Given the description of an element on the screen output the (x, y) to click on. 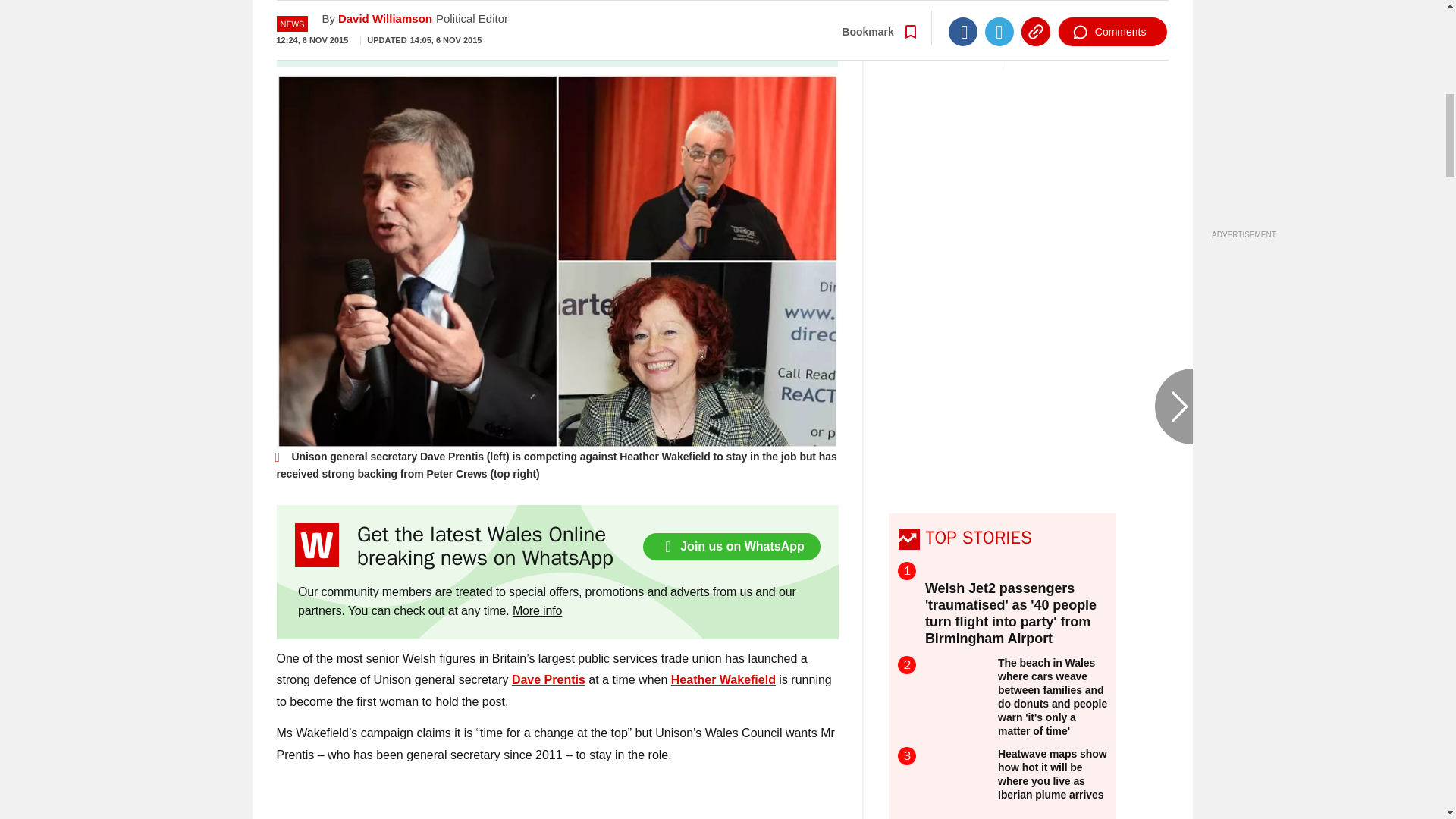
Go (730, 40)
